Given the description of an element on the screen output the (x, y) to click on. 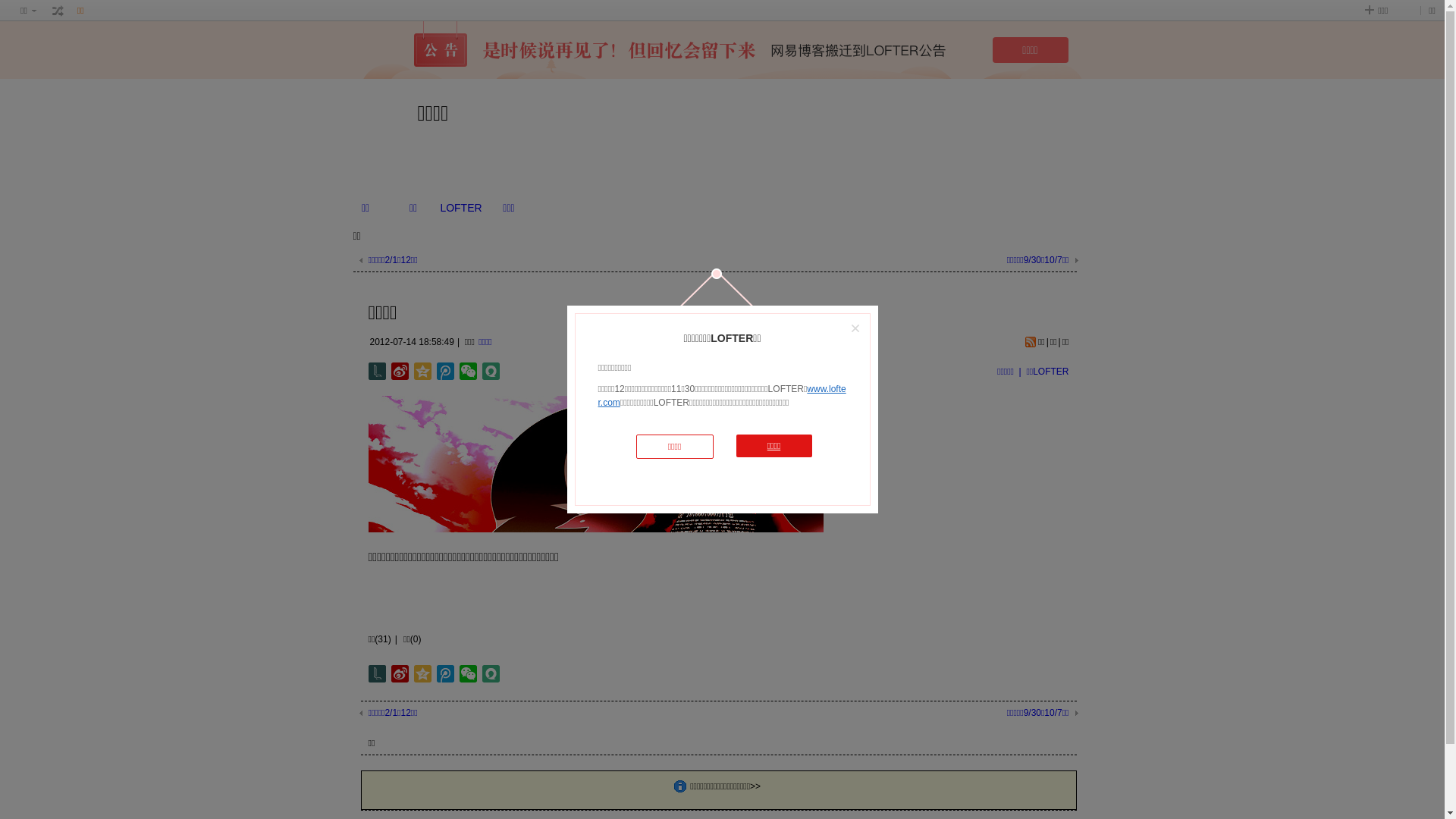
LOFTER Element type: text (460, 207)
  Element type: text (58, 10)
www.lofter.com Element type: text (721, 395)
